Given the description of an element on the screen output the (x, y) to click on. 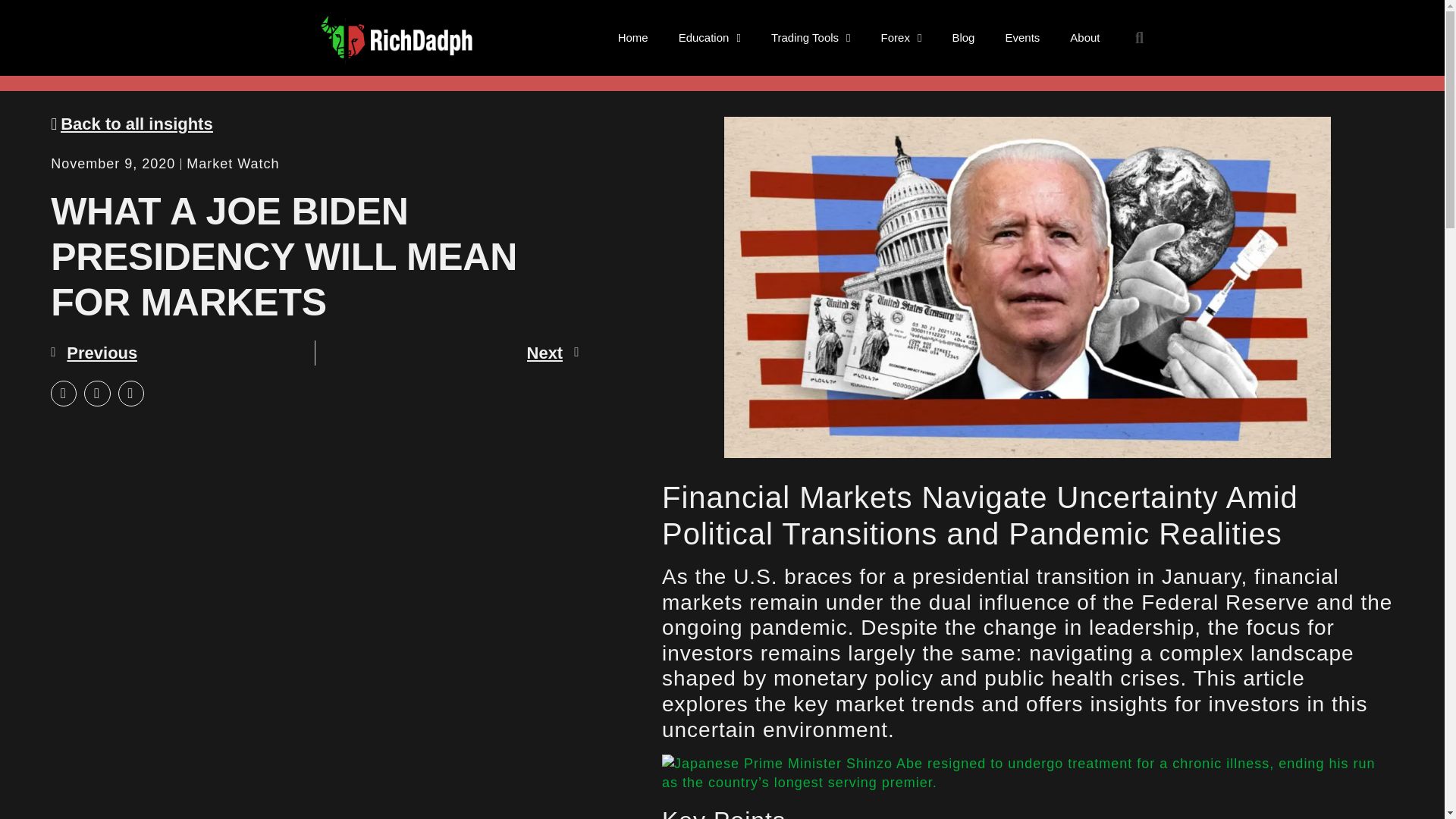
Trading Tools (810, 38)
Education (709, 38)
Forex (901, 38)
